Given the description of an element on the screen output the (x, y) to click on. 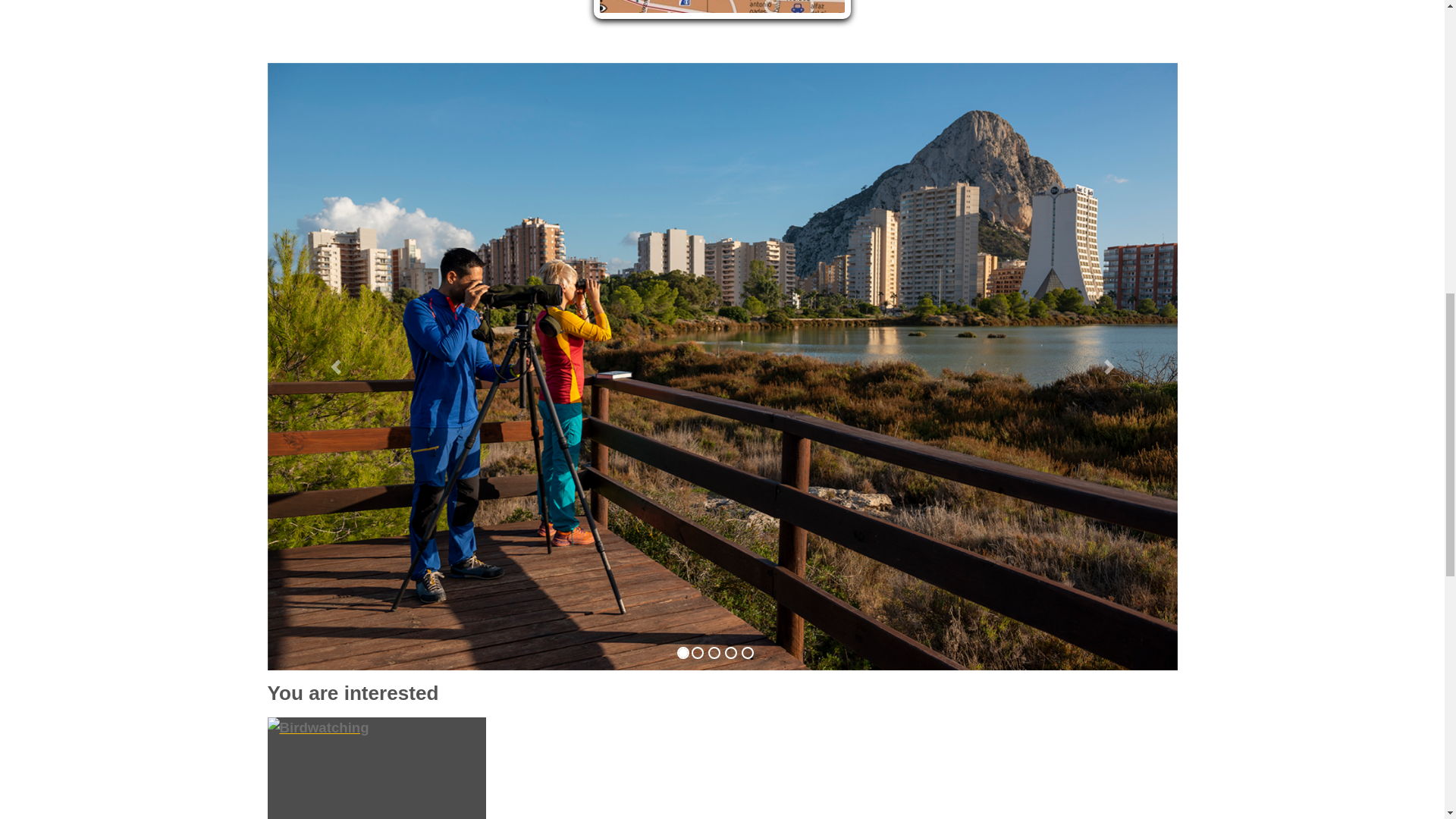
Birdwatching  (384, 768)
